Given the description of an element on the screen output the (x, y) to click on. 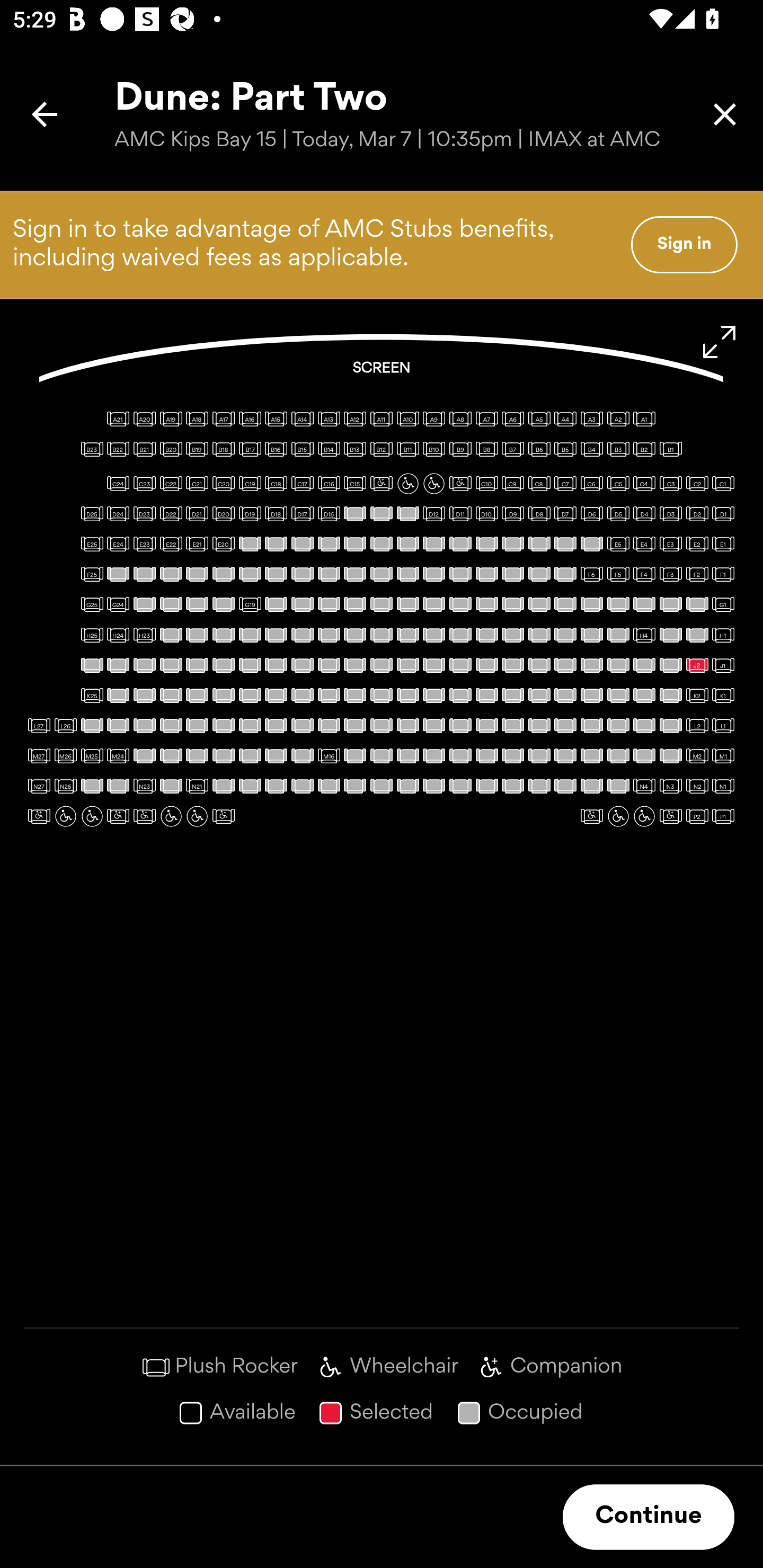
Back (44, 114)
Close (724, 114)
Sign in (684, 244)
Zoom (719, 342)
A21, Regular seat, available (118, 419)
A20, Regular seat, available (144, 419)
A19, Regular seat, available (170, 419)
A18, Regular seat, available (197, 419)
A17, Regular seat, available (223, 419)
A16, Regular seat, available (249, 419)
A15, Regular seat, available (276, 419)
A14, Regular seat, available (302, 419)
A13, Regular seat, available (328, 419)
A12, Regular seat, available (355, 419)
A11, Regular seat, available (381, 419)
A10, Regular seat, available (407, 419)
A9, Regular seat, available (433, 419)
A8, Regular seat, available (460, 419)
A7, Regular seat, available (486, 419)
A6, Regular seat, available (512, 419)
A5, Regular seat, available (539, 419)
A4, Regular seat, available (565, 419)
A3, Regular seat, available (591, 419)
A2, Regular seat, available (618, 419)
A1, Regular seat, available (644, 419)
B23, Regular seat, available (91, 449)
B22, Regular seat, available (118, 449)
B21, Regular seat, available (144, 449)
B20, Regular seat, available (170, 449)
B19, Regular seat, available (197, 449)
B18, Regular seat, available (223, 449)
B17, Regular seat, available (249, 449)
B16, Regular seat, available (276, 449)
B15, Regular seat, available (302, 449)
B14, Regular seat, available (328, 449)
B13, Regular seat, available (355, 449)
B12, Regular seat, available (381, 449)
B11, Regular seat, available (407, 449)
B10, Regular seat, available (433, 449)
B9, Regular seat, available (460, 449)
B8, Regular seat, available (486, 449)
B7, Regular seat, available (512, 449)
B6, Regular seat, available (539, 449)
B5, Regular seat, available (565, 449)
B4, Regular seat, available (591, 449)
B3, Regular seat, available (618, 449)
B2, Regular seat, available (644, 449)
B1, Regular seat, available (670, 449)
C24, Regular seat, available (118, 483)
C23, Regular seat, available (144, 483)
C22, Regular seat, available (170, 483)
C21, Regular seat, available (197, 483)
C20, Regular seat, available (223, 483)
C19, Regular seat, available (249, 483)
C18, Regular seat, available (276, 483)
C17, Regular seat, available (302, 483)
C16, Regular seat, available (328, 483)
C15, Regular seat, available (355, 483)
C14, Wheelchair companion seat, available (381, 483)
C13, Wheelchair space, available (407, 483)
C12, Wheelchair space, available (433, 483)
C11, Wheelchair companion seat, available (460, 483)
C10, Regular seat, available (486, 483)
C9, Regular seat, available (512, 483)
C8, Regular seat, available (539, 483)
C7, Regular seat, available (565, 483)
C6, Regular seat, available (591, 483)
C5, Regular seat, available (618, 483)
C4, Regular seat, available (644, 483)
C3, Regular seat, available (670, 483)
C2, Regular seat, available (697, 483)
C1, Regular seat, available (723, 483)
D25, Regular seat, available (91, 513)
D24, Regular seat, available (118, 513)
D23, Regular seat, available (144, 513)
D22, Regular seat, available (170, 513)
D21, Regular seat, available (197, 513)
D20, Regular seat, available (223, 513)
D19, Regular seat, available (249, 513)
D18, Regular seat, available (276, 513)
D17, Regular seat, available (302, 513)
D16, Regular seat, available (328, 513)
D12, Regular seat, available (433, 513)
D11, Regular seat, available (460, 513)
D10, Regular seat, available (486, 513)
D9, Regular seat, available (512, 513)
D8, Regular seat, available (539, 513)
D7, Regular seat, available (565, 513)
D6, Regular seat, available (591, 513)
D5, Regular seat, available (618, 513)
D4, Regular seat, available (644, 513)
D3, Regular seat, available (670, 513)
D2, Regular seat, available (697, 513)
D1, Regular seat, available (723, 513)
E25, Regular seat, available (91, 543)
E24, Regular seat, available (118, 543)
E23, Regular seat, available (144, 543)
E22, Regular seat, available (170, 543)
E21, Regular seat, available (197, 543)
E20, Regular seat, available (223, 543)
E5, Regular seat, available (618, 543)
E4, Regular seat, available (644, 543)
E3, Regular seat, available (670, 543)
E2, Regular seat, available (697, 543)
E1, Regular seat, available (723, 543)
F25, Regular seat, available (91, 574)
F6, Regular seat, available (591, 574)
F5, Regular seat, available (618, 574)
F4, Regular seat, available (644, 574)
F3, Regular seat, available (670, 574)
F2, Regular seat, available (697, 574)
F1, Regular seat, available (723, 574)
G25, Regular seat, available (91, 604)
G24, Regular seat, available (118, 604)
G19, Regular seat, available (249, 604)
G1, Regular seat, available (723, 604)
H25, Regular seat, available (91, 634)
H24, Regular seat, available (118, 634)
H23, Regular seat, available (144, 634)
H4, Regular seat, available (644, 634)
H1, Regular seat, available (723, 634)
J2, Regular seat, selected (697, 665)
J1, Regular seat, available (723, 665)
K25, Regular seat, available (91, 695)
K2, Regular seat, available (697, 695)
K1, Regular seat, available (723, 695)
L27, Regular seat, available (39, 725)
L26, Regular seat, available (65, 725)
L2, Regular seat, available (697, 725)
L1, Regular seat, available (723, 725)
M27, Regular seat, available (39, 755)
M26, Regular seat, available (65, 755)
M25, Regular seat, available (91, 755)
M24, Regular seat, available (118, 755)
M16, Regular seat, available (328, 755)
M2, Regular seat, available (697, 755)
M1, Regular seat, available (723, 755)
N27, Regular seat, available (39, 786)
N26, Regular seat, available (65, 786)
N23, Regular seat, available (144, 786)
N21, Regular seat, available (197, 786)
N4, Regular seat, available (644, 786)
N3, Regular seat, available (670, 786)
N2, Regular seat, available (697, 786)
N1, Regular seat, available (723, 786)
P14, Wheelchair companion seat, available (39, 816)
P13, Wheelchair space, available (65, 816)
P12, Wheelchair space, available (91, 816)
P11, Wheelchair companion seat, available (118, 816)
P10, Wheelchair companion seat, available (144, 816)
P9, Wheelchair space, available (170, 816)
P8, Wheelchair space, available (197, 816)
P7, Wheelchair companion seat, available (223, 816)
P6, Wheelchair companion seat, available (591, 816)
P5, Wheelchair space, available (618, 816)
P4, Wheelchair space, available (644, 816)
P3, Wheelchair companion seat, available (670, 816)
P2, Regular seat, available (697, 816)
P1, Regular seat, available (723, 816)
Continue (648, 1516)
